Given the description of an element on the screen output the (x, y) to click on. 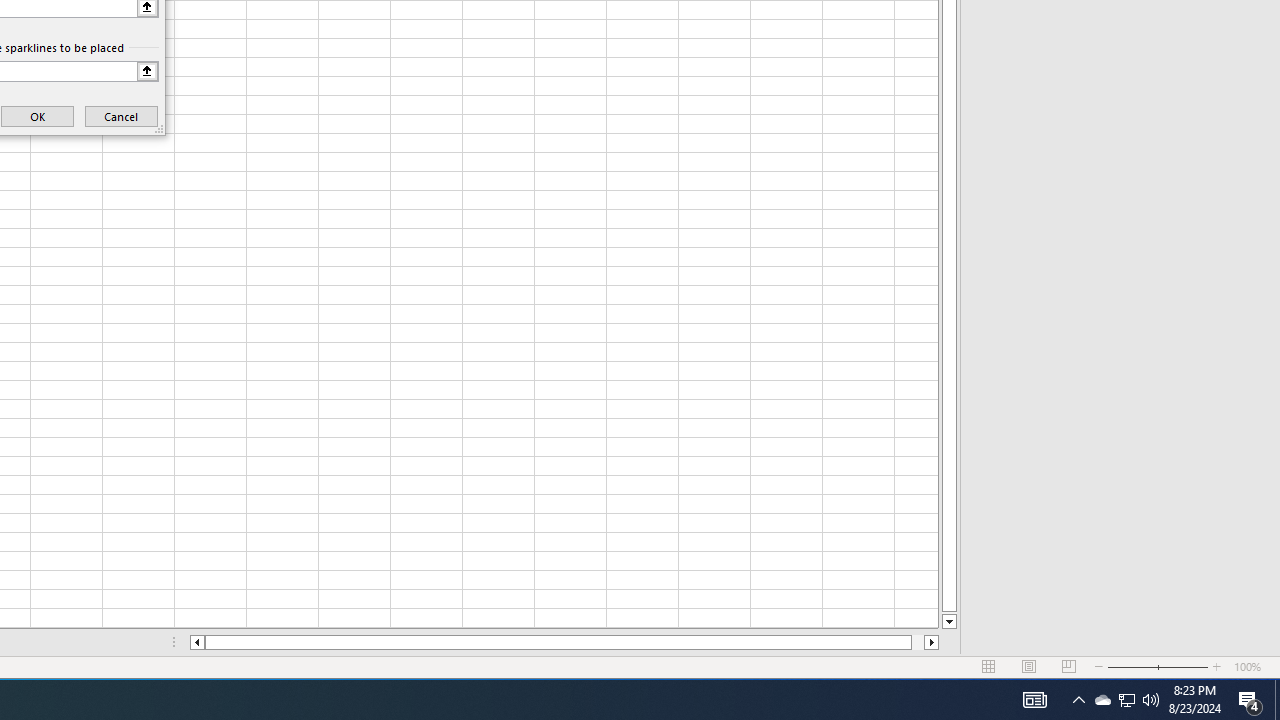
Normal (988, 667)
Line down (948, 622)
Page Break Preview (1069, 667)
Column right (932, 642)
Zoom In (1217, 667)
Page right (917, 642)
Column left (196, 642)
Page Layout (1028, 667)
Class: NetUIScrollBar (564, 642)
Zoom (1158, 667)
Zoom Out (1131, 667)
